Given the description of an element on the screen output the (x, y) to click on. 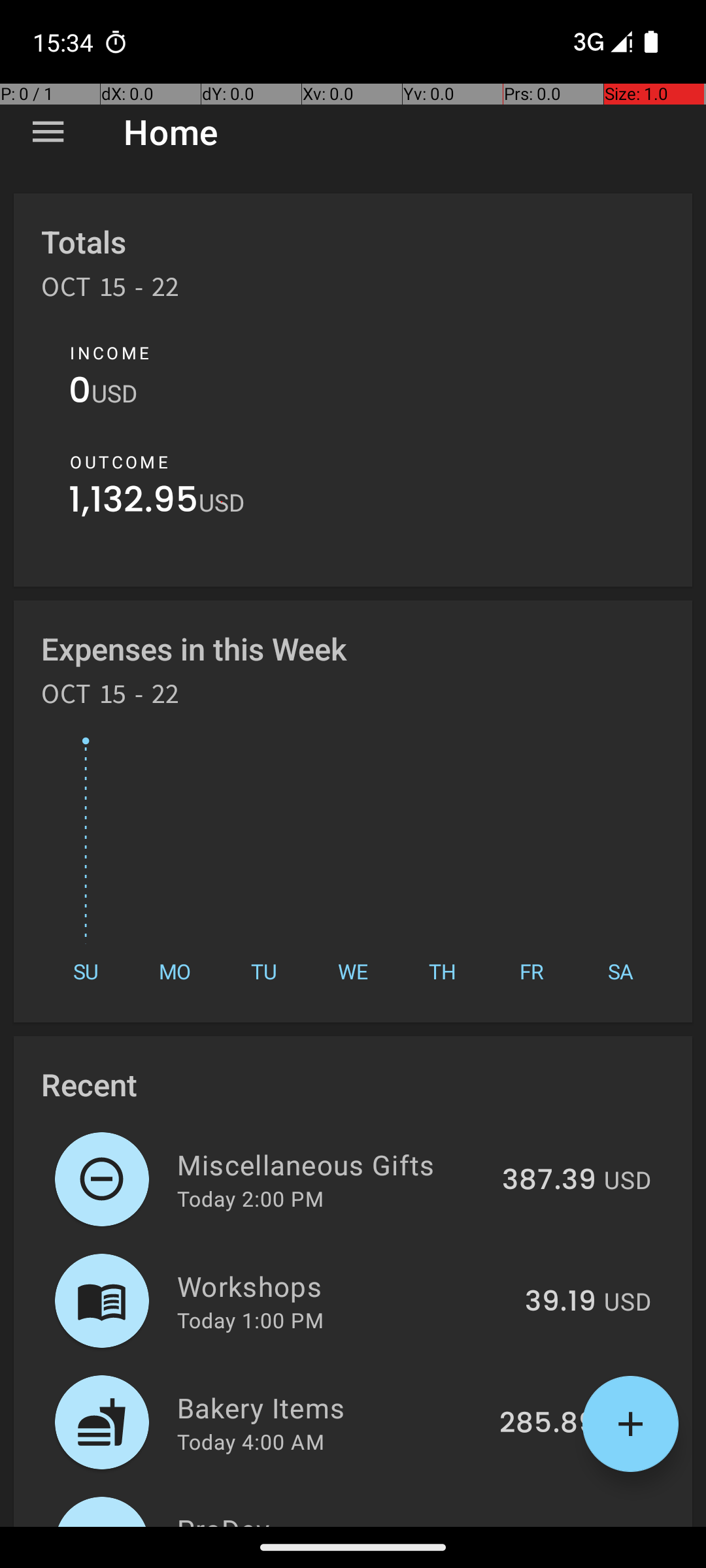
1,132.95 Element type: android.widget.TextView (133, 502)
Miscellaneous Gifts Element type: android.widget.TextView (331, 1164)
387.39 Element type: android.widget.TextView (548, 1180)
Workshops Element type: android.widget.TextView (343, 1285)
39.19 Element type: android.widget.TextView (560, 1301)
Bakery Items Element type: android.widget.TextView (330, 1407)
285.89 Element type: android.widget.TextView (547, 1423)
420.48 Element type: android.widget.TextView (547, 1524)
